Given the description of an element on the screen output the (x, y) to click on. 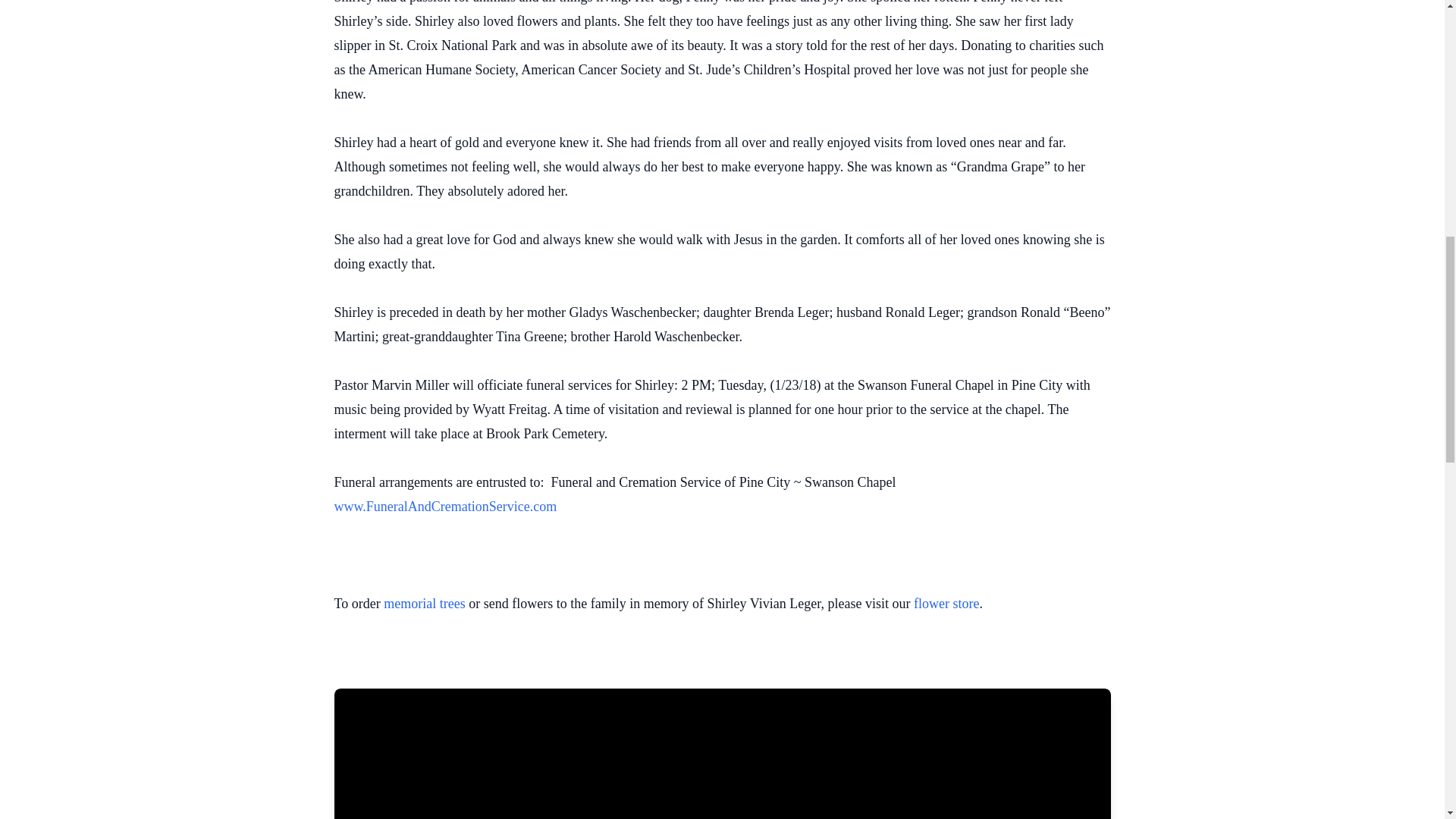
memorial trees (424, 603)
flower store (946, 603)
www.FuneralAndCremationService.com (444, 506)
